Given the description of an element on the screen output the (x, y) to click on. 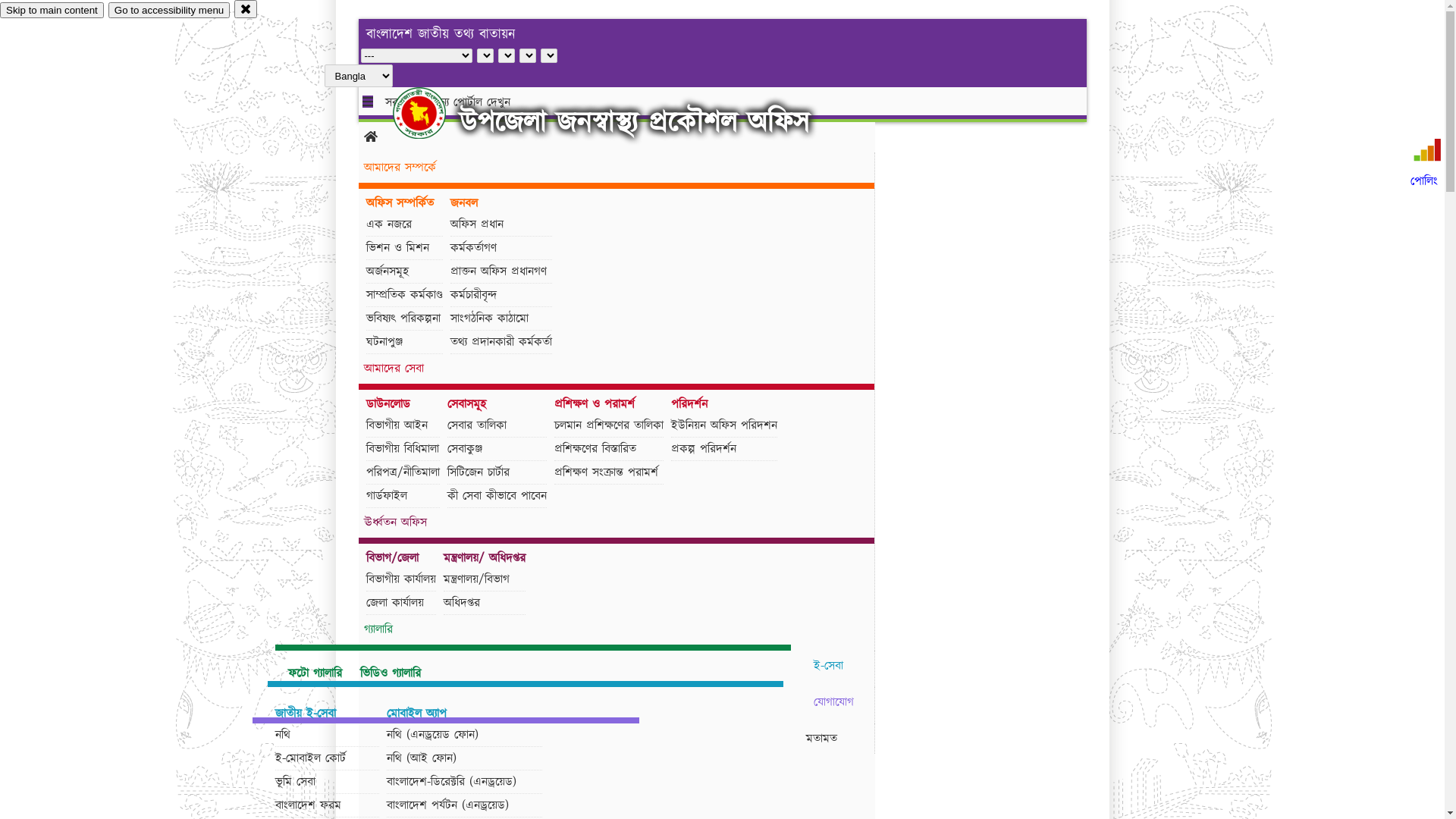
Go to accessibility menu Element type: text (168, 10)
Skip to main content Element type: text (51, 10)

                
             Element type: hover (431, 112)
close Element type: hover (245, 9)
